Given the description of an element on the screen output the (x, y) to click on. 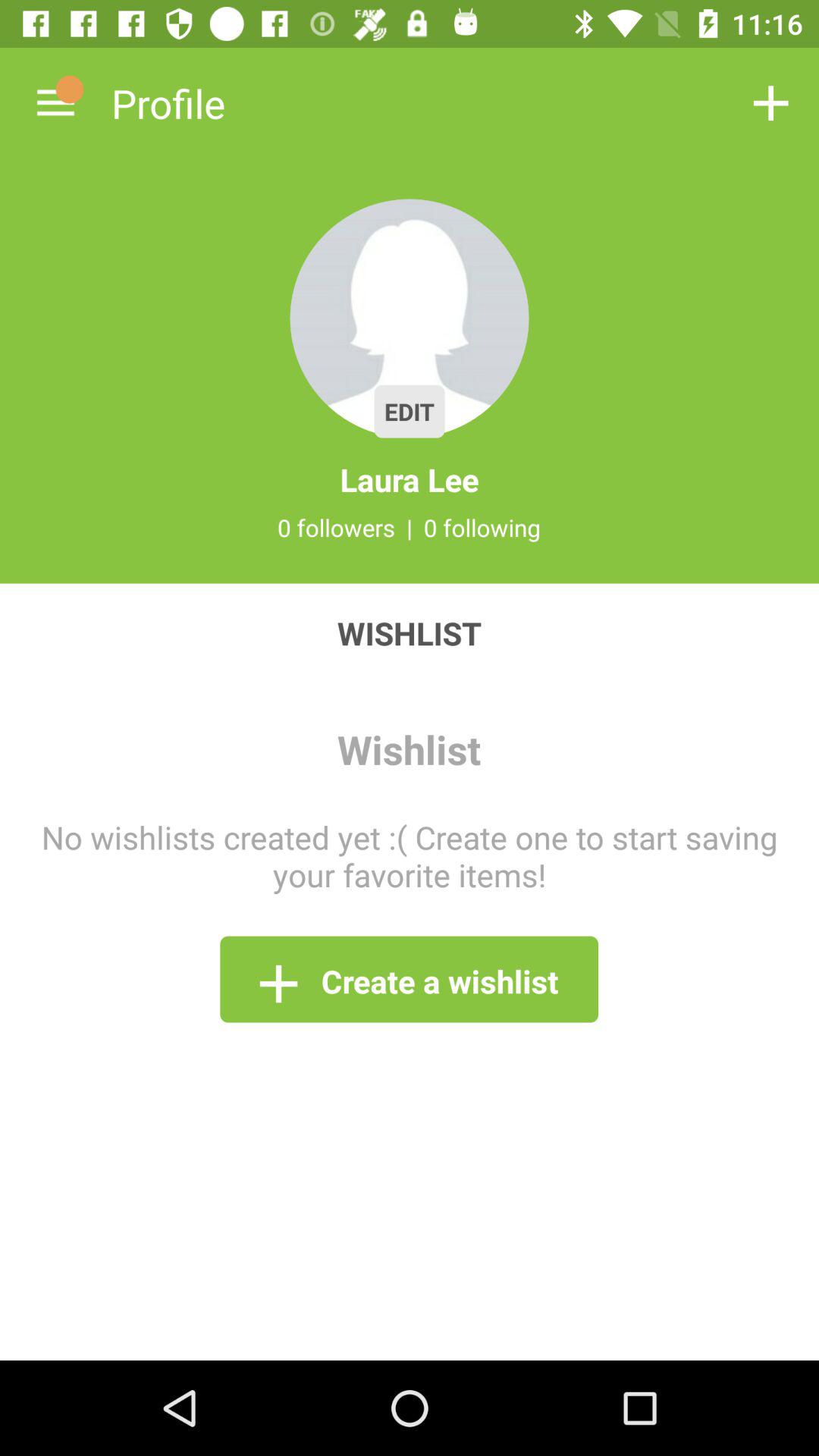
jump until the no wishlists created icon (409, 855)
